Given the description of an element on the screen output the (x, y) to click on. 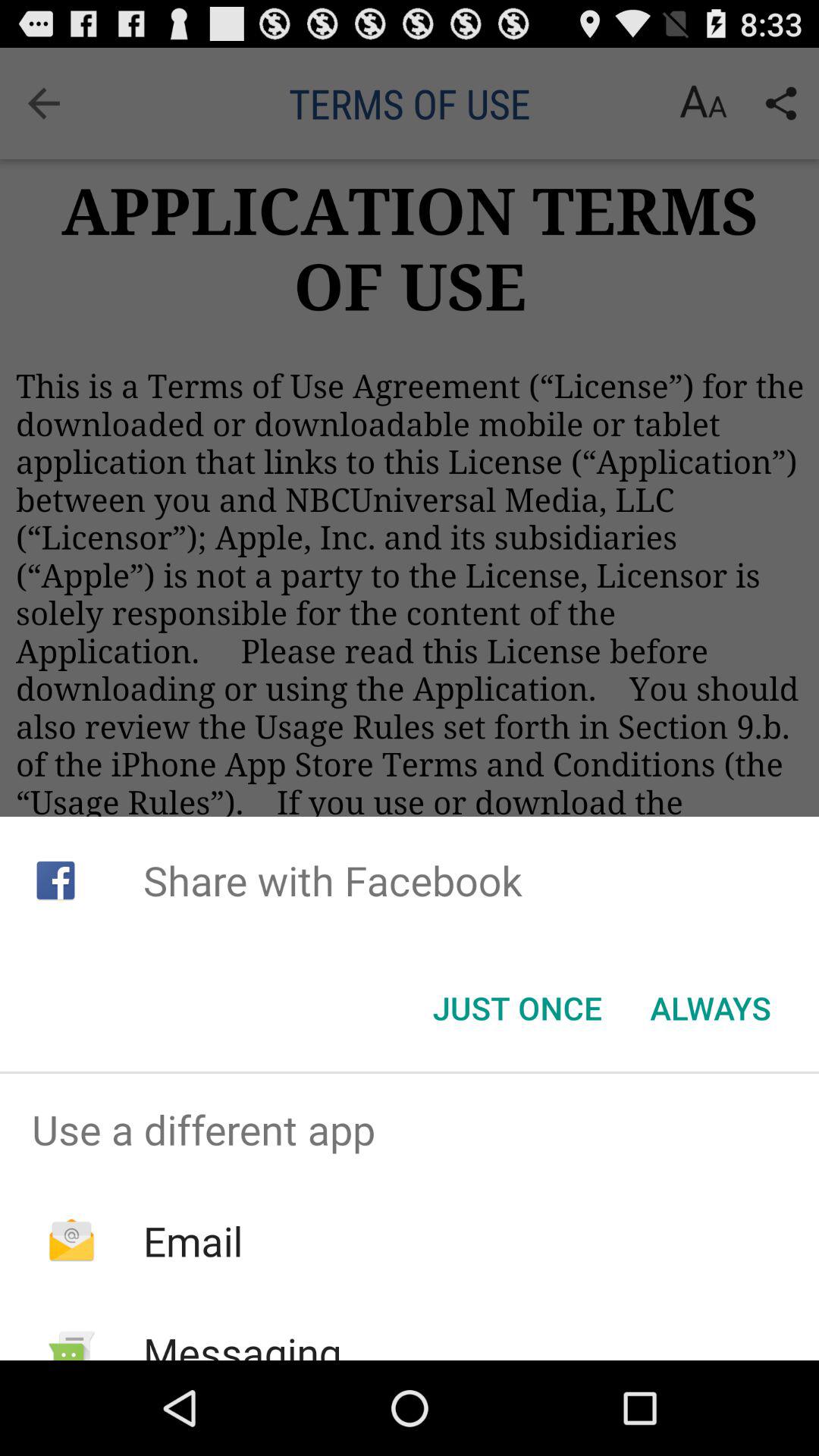
swipe until just once icon (517, 1007)
